Given the description of an element on the screen output the (x, y) to click on. 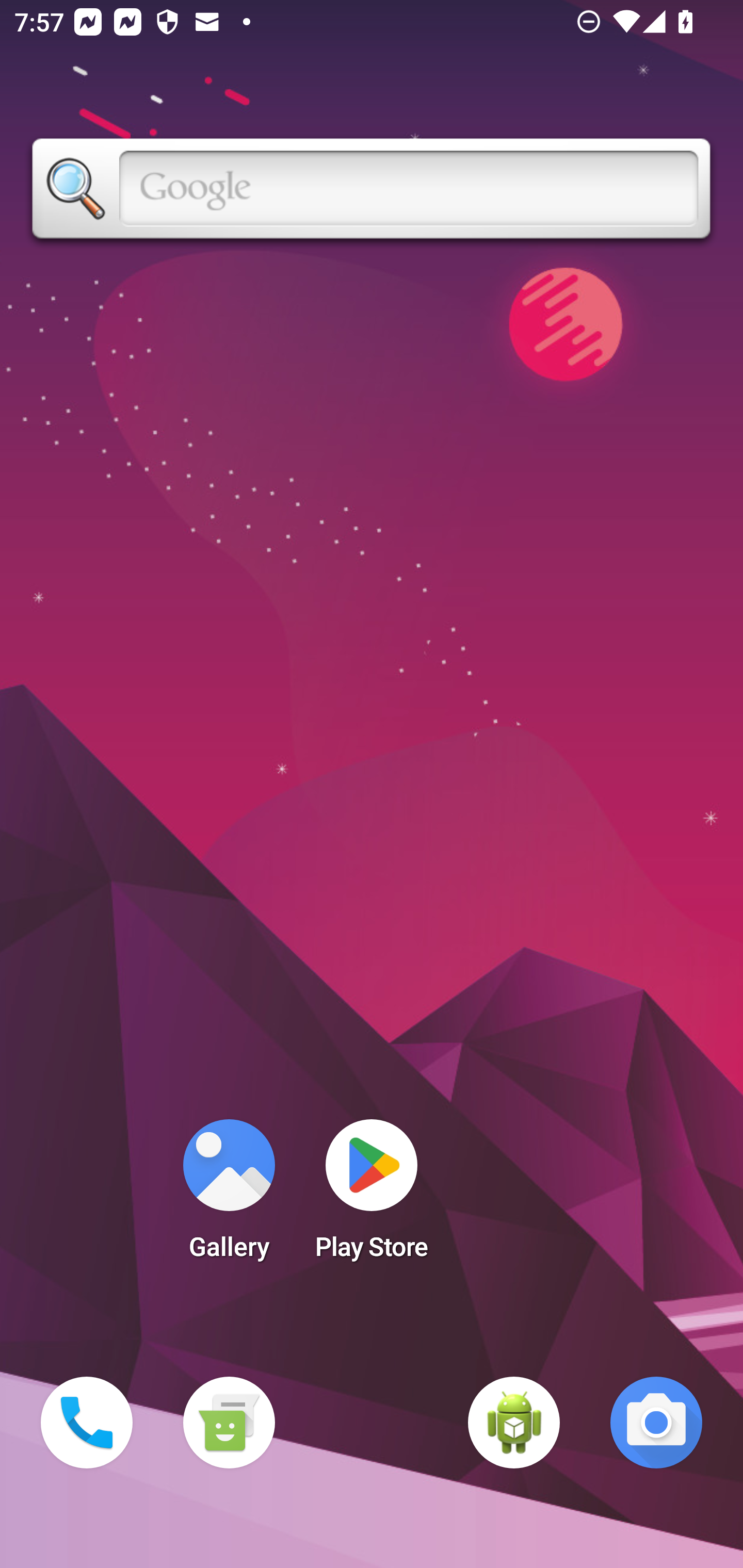
Gallery (228, 1195)
Play Store (371, 1195)
Phone (86, 1422)
Messaging (228, 1422)
WebView Browser Tester (513, 1422)
Camera (656, 1422)
